Given the description of an element on the screen output the (x, y) to click on. 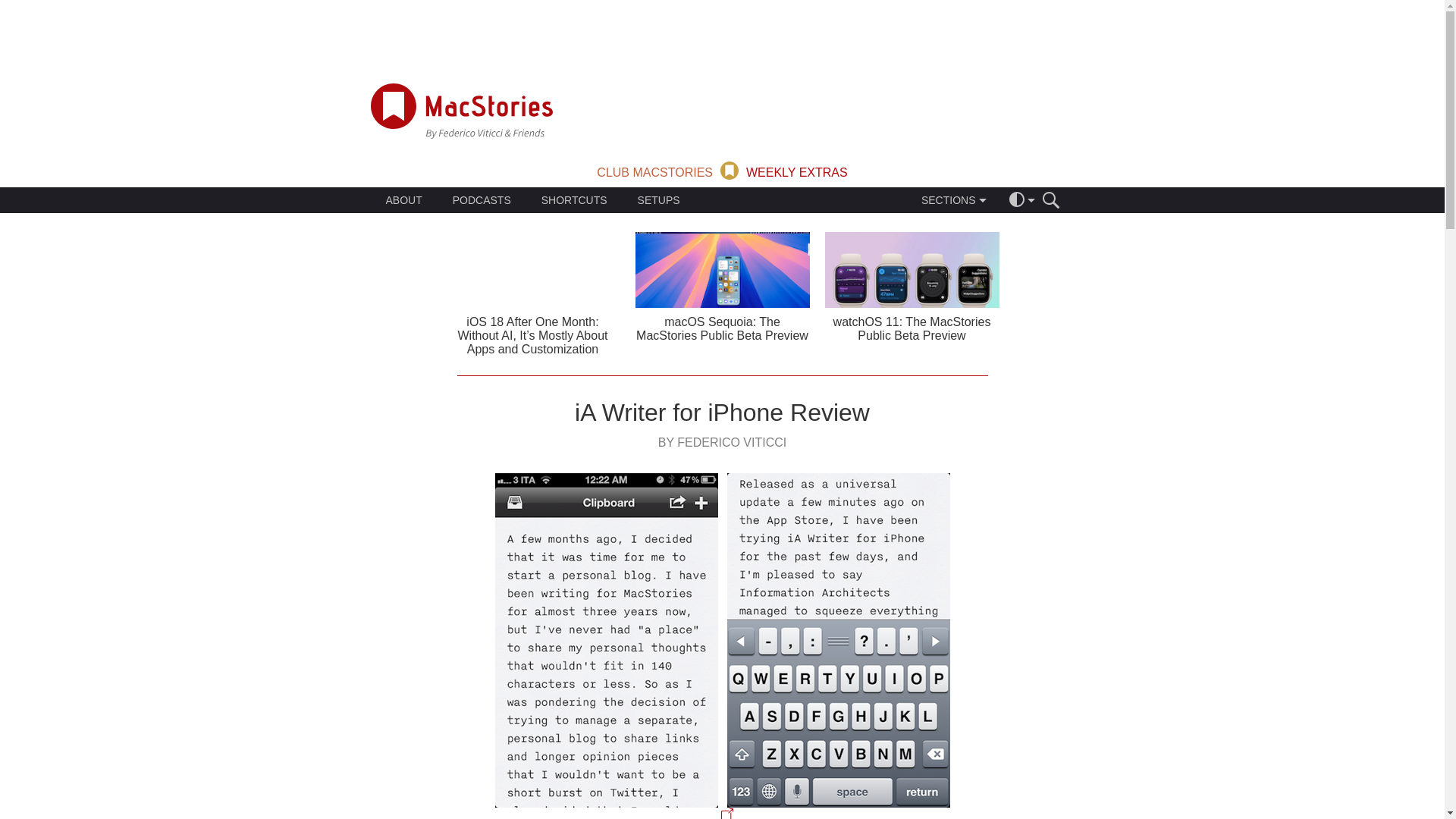
SETUPS (658, 199)
macOS Sequoia: The MacStories Public Beta Preview (721, 287)
watchOS 11: The MacStories Public Beta Preview (911, 287)
watchOS 11: The MacStories Public Beta Preview (911, 328)
SHORTCUTS (574, 199)
CLUB MACSTORIESWEEKLY EXTRAS (721, 169)
PODCASTS (481, 199)
macOS Sequoia: The MacStories Public Beta Preview (722, 328)
ABOUT (403, 199)
